Given the description of an element on the screen output the (x, y) to click on. 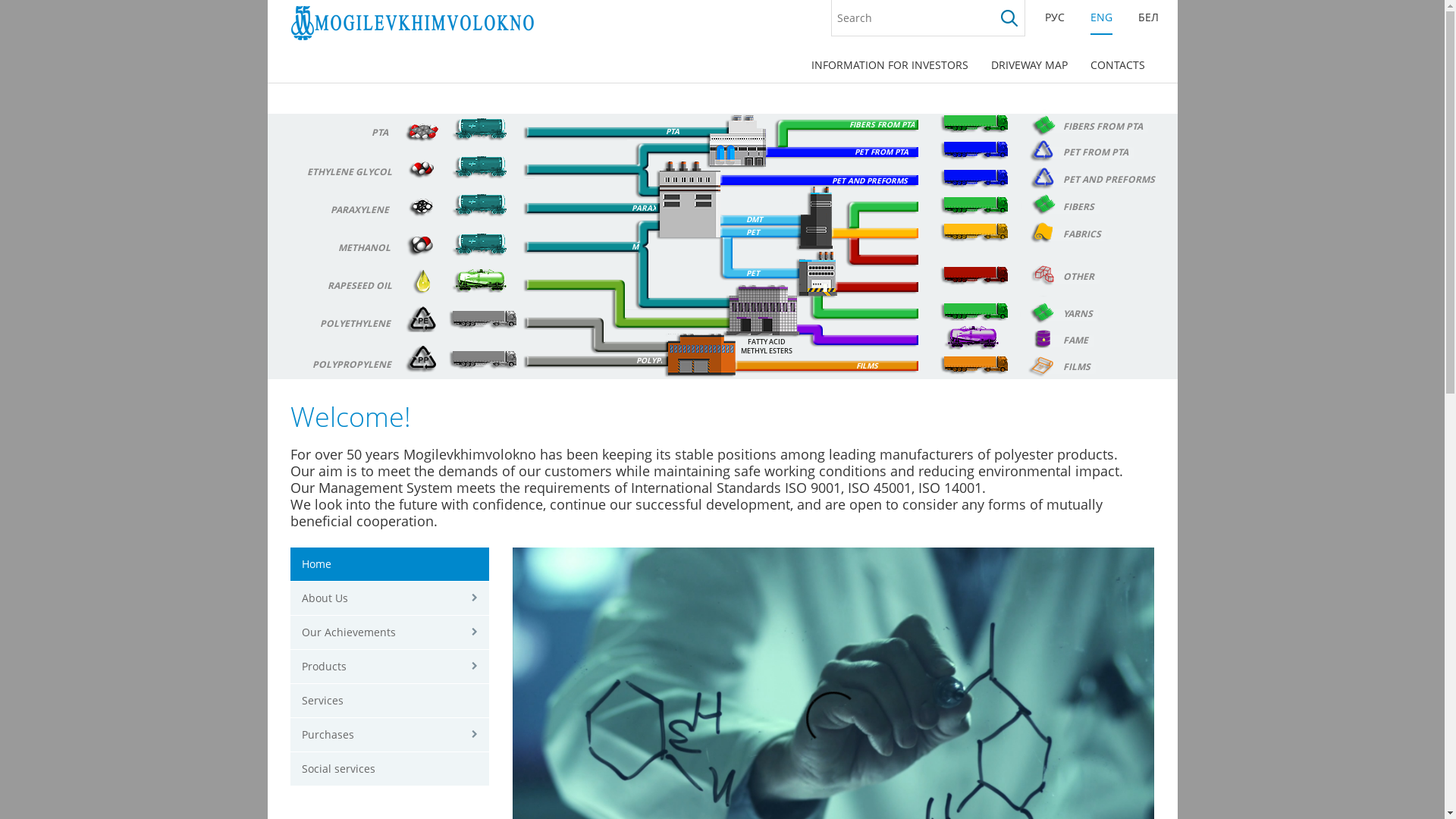
ENG Element type: text (1101, 16)
About Us Element type: text (389, 598)
Social services Element type: text (389, 768)
CONTACTS Element type: text (1116, 64)
Our Achievements Element type: text (389, 632)
Home Element type: text (389, 564)
INFORMATION FOR INVESTORS Element type: text (888, 64)
Services Element type: text (389, 701)
Purchases Element type: text (389, 735)
Products Element type: text (389, 666)
DRIVEWAY MAP Element type: text (1029, 64)
